Given the description of an element on the screen output the (x, y) to click on. 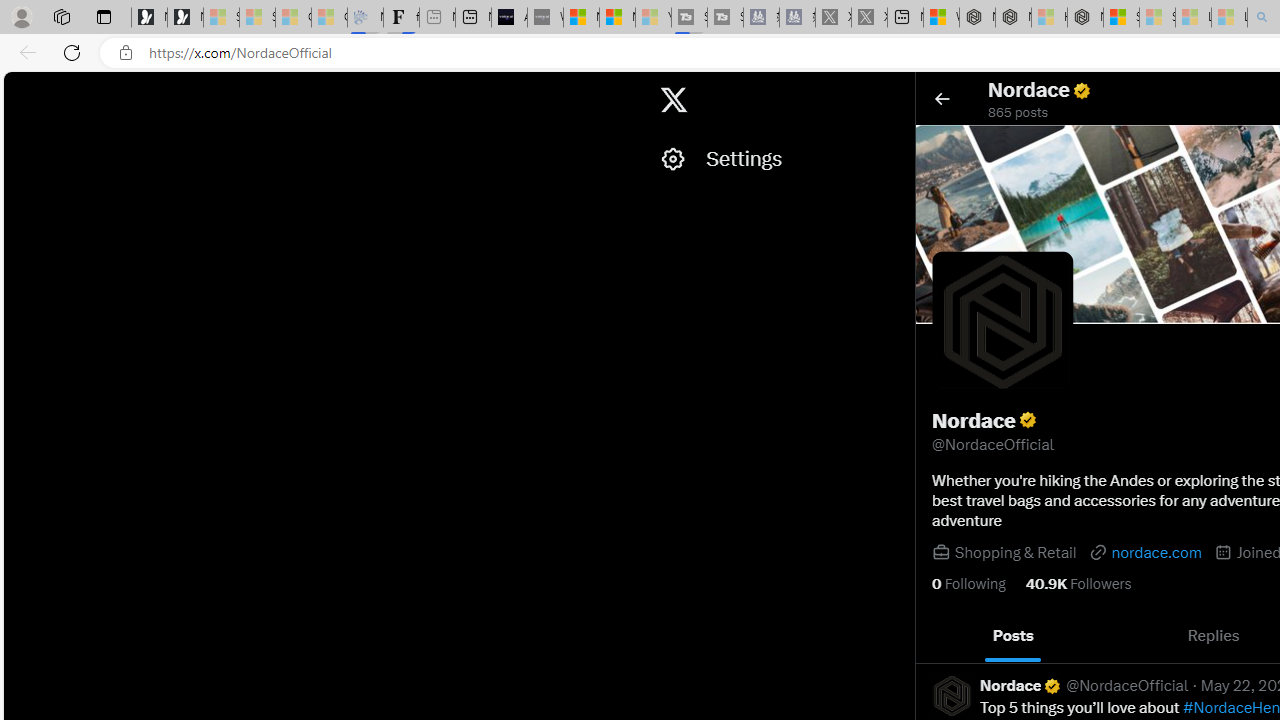
Newsletter Sign Up (185, 17)
Posts (1013, 636)
Square profile picture (952, 695)
Skip to trending (21, 90)
View site information (125, 53)
Verified account (1052, 686)
@NordaceOfficial (1127, 685)
